Given the description of an element on the screen output the (x, y) to click on. 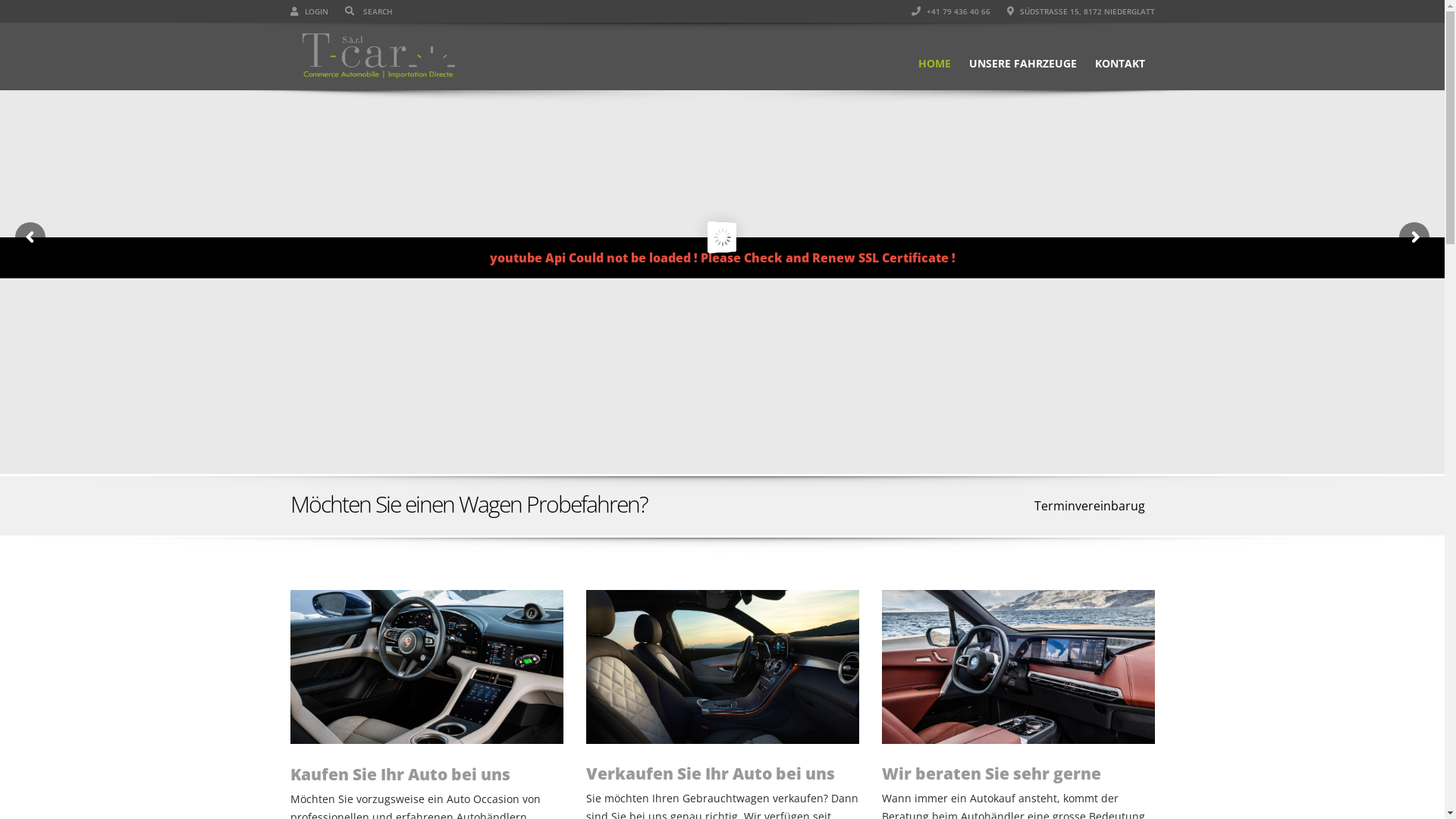
Terminvereinbarug Element type: text (1088, 505)
HOME Element type: text (933, 56)
LOGIN Element type: text (308, 11)
KONTAKT Element type: text (1119, 56)
+41 79 436 40 66 Element type: text (950, 11)
UNSERE FAHRZEUGE Element type: text (1022, 56)
